Given the description of an element on the screen output the (x, y) to click on. 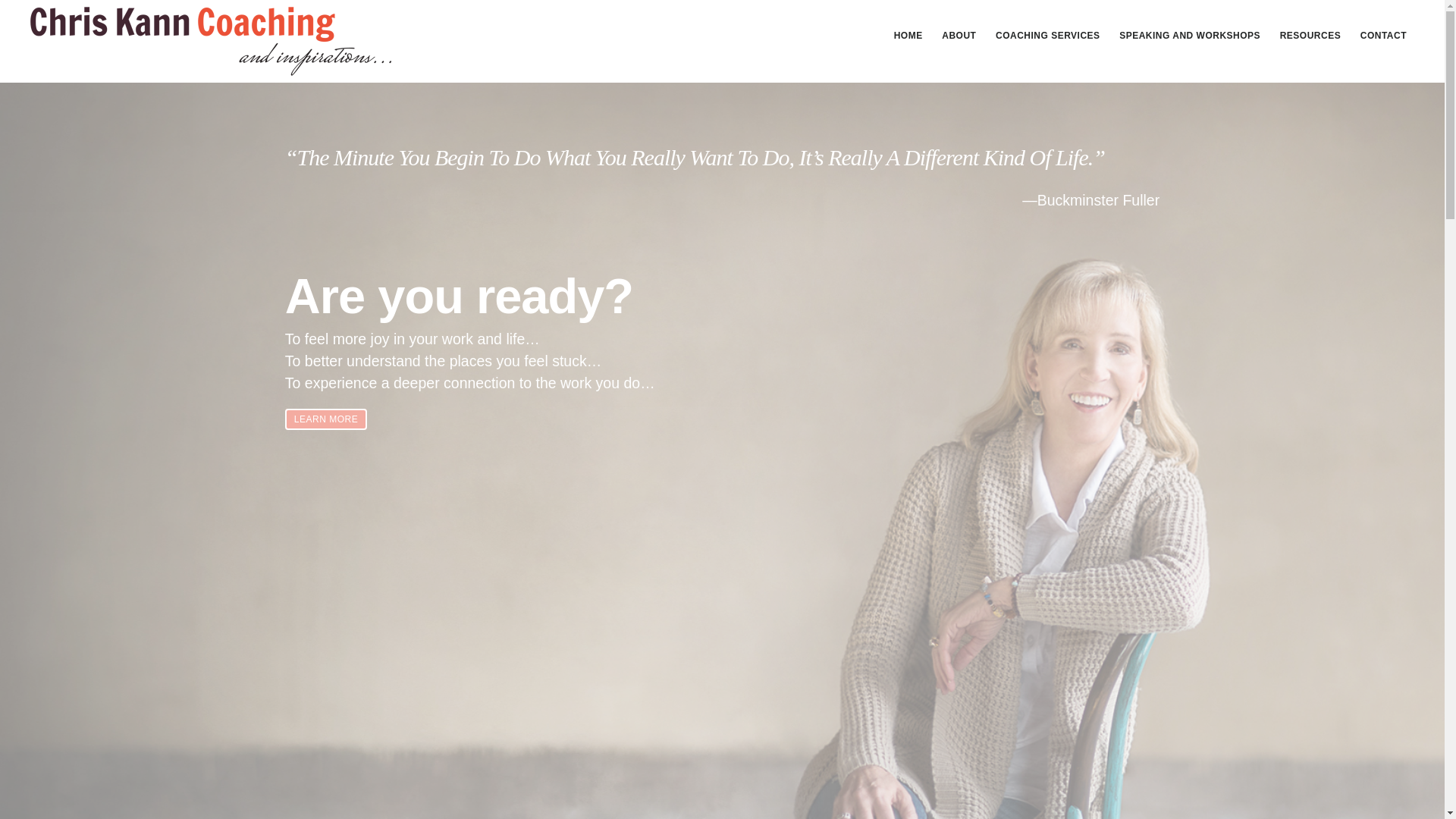
CONTACT (1382, 35)
HOME (908, 35)
CHRIS KANN COACHING (210, 41)
SPEAKING AND WORKSHOPS (1190, 35)
LEARN MORE (325, 418)
RESOURCES (1310, 35)
COACHING SERVICES (1048, 35)
ABOUT (959, 35)
